Given the description of an element on the screen output the (x, y) to click on. 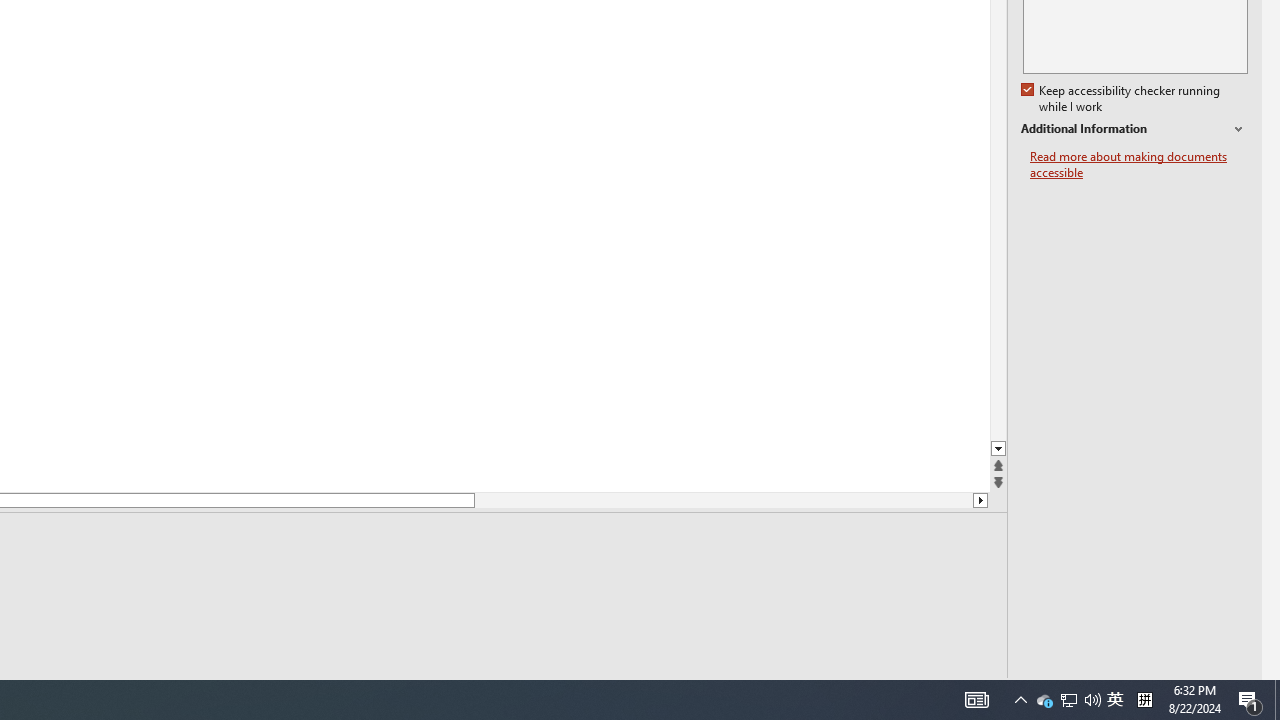
Action Center, 1 new notification (1250, 699)
Keep accessibility checker running while I work (1122, 99)
Read more about making documents accessible (1139, 164)
Additional Information (1134, 129)
Slide Show Next On (924, 691)
Q2790: 100% (1092, 699)
Show desktop (1277, 699)
Page down (723, 500)
